Given the description of an element on the screen output the (x, y) to click on. 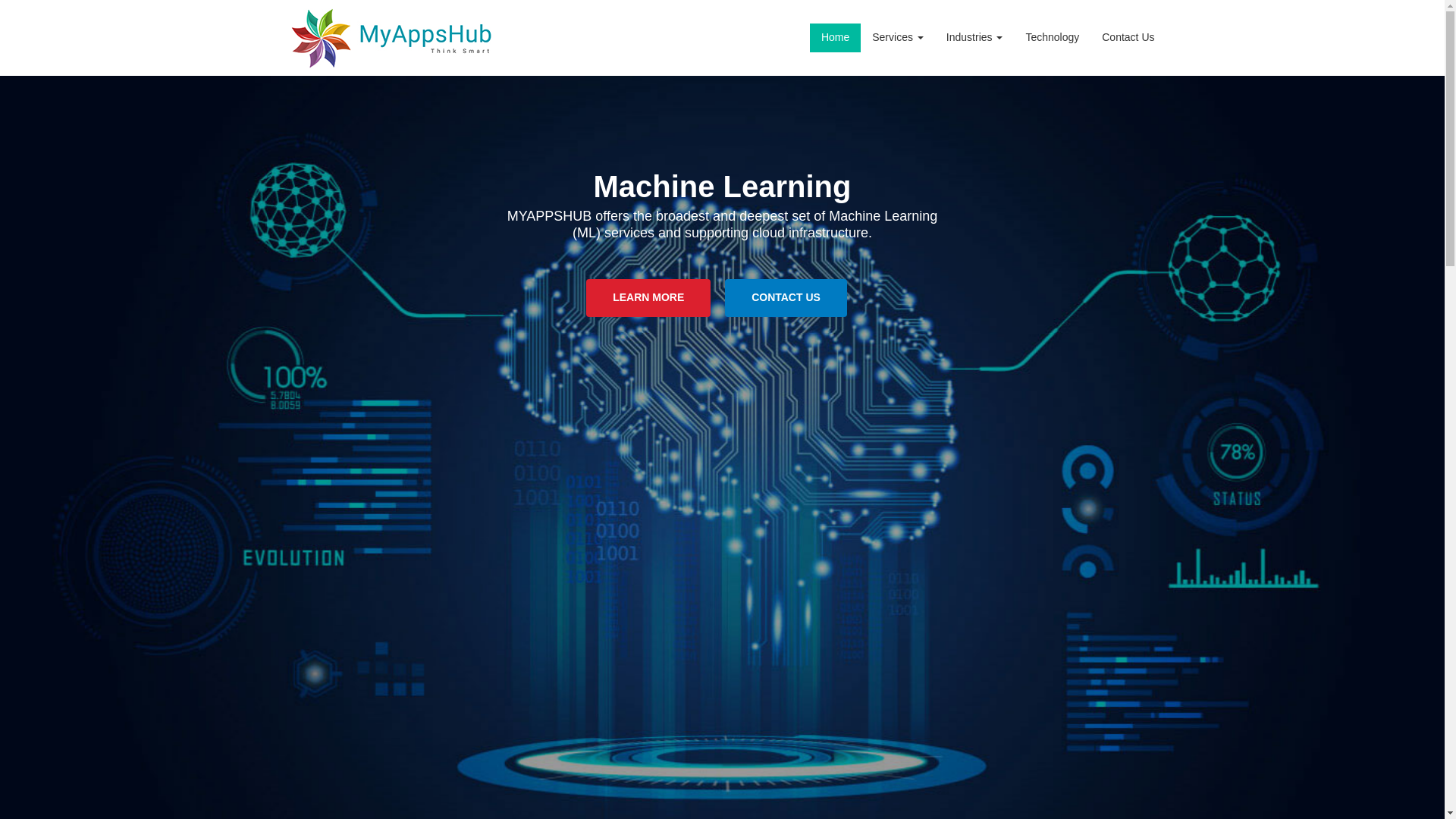
LEARN MORE (648, 297)
Services (897, 37)
LEARN MORE (648, 297)
Home (834, 37)
CONTACT US (786, 297)
Contact Us (1128, 37)
Industries (974, 37)
Technology (1051, 37)
CONTACT US (786, 297)
